Given the description of an element on the screen output the (x, y) to click on. 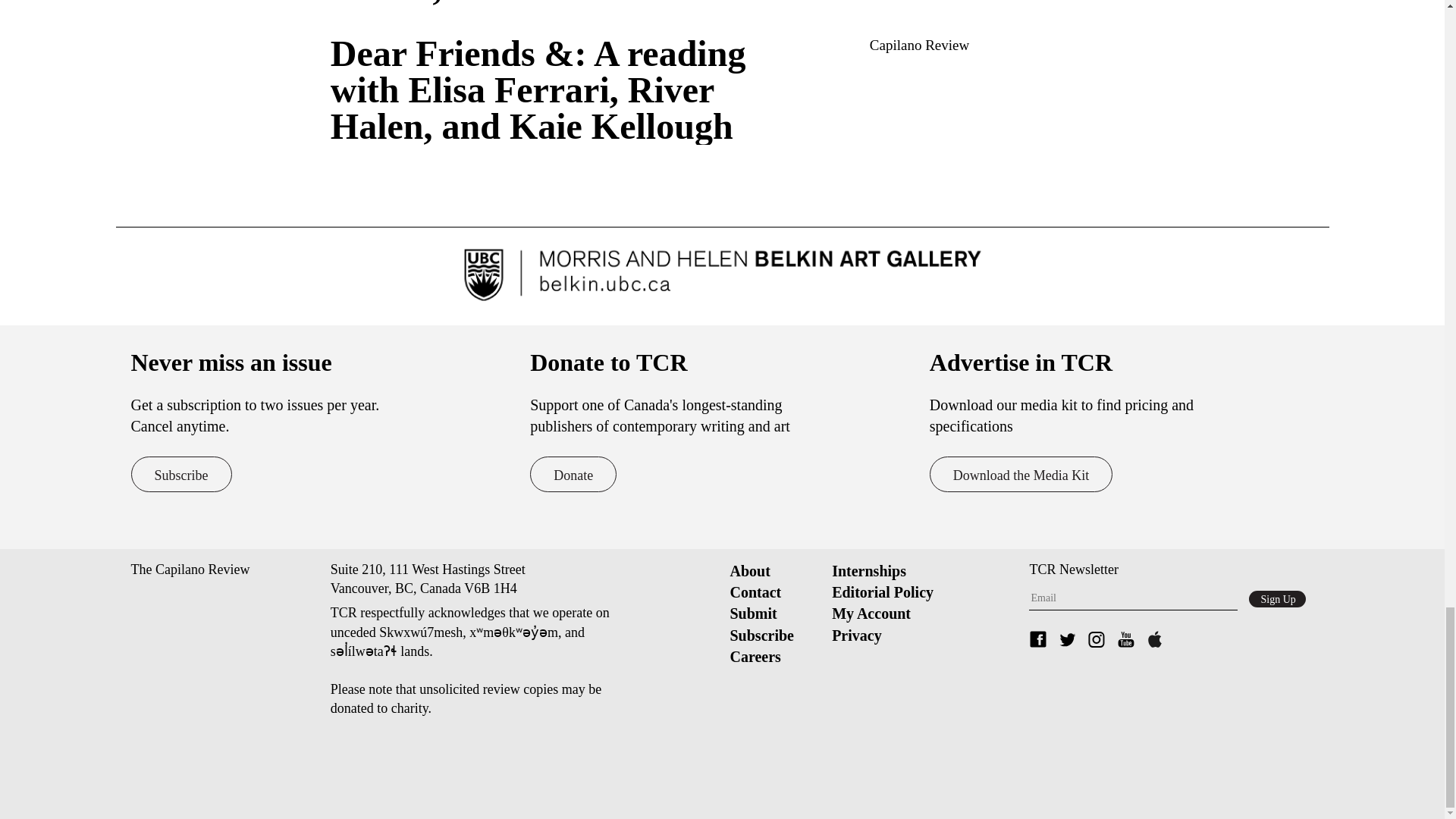
Capilano Review (919, 44)
Submit (752, 613)
Subscribe (761, 635)
Posts by Capilano Review (919, 44)
About (749, 570)
Contact (754, 591)
Subscribe (181, 474)
Download the Media Kit (1021, 474)
Donate (572, 474)
The Capilano Review (189, 569)
